Given the description of an element on the screen output the (x, y) to click on. 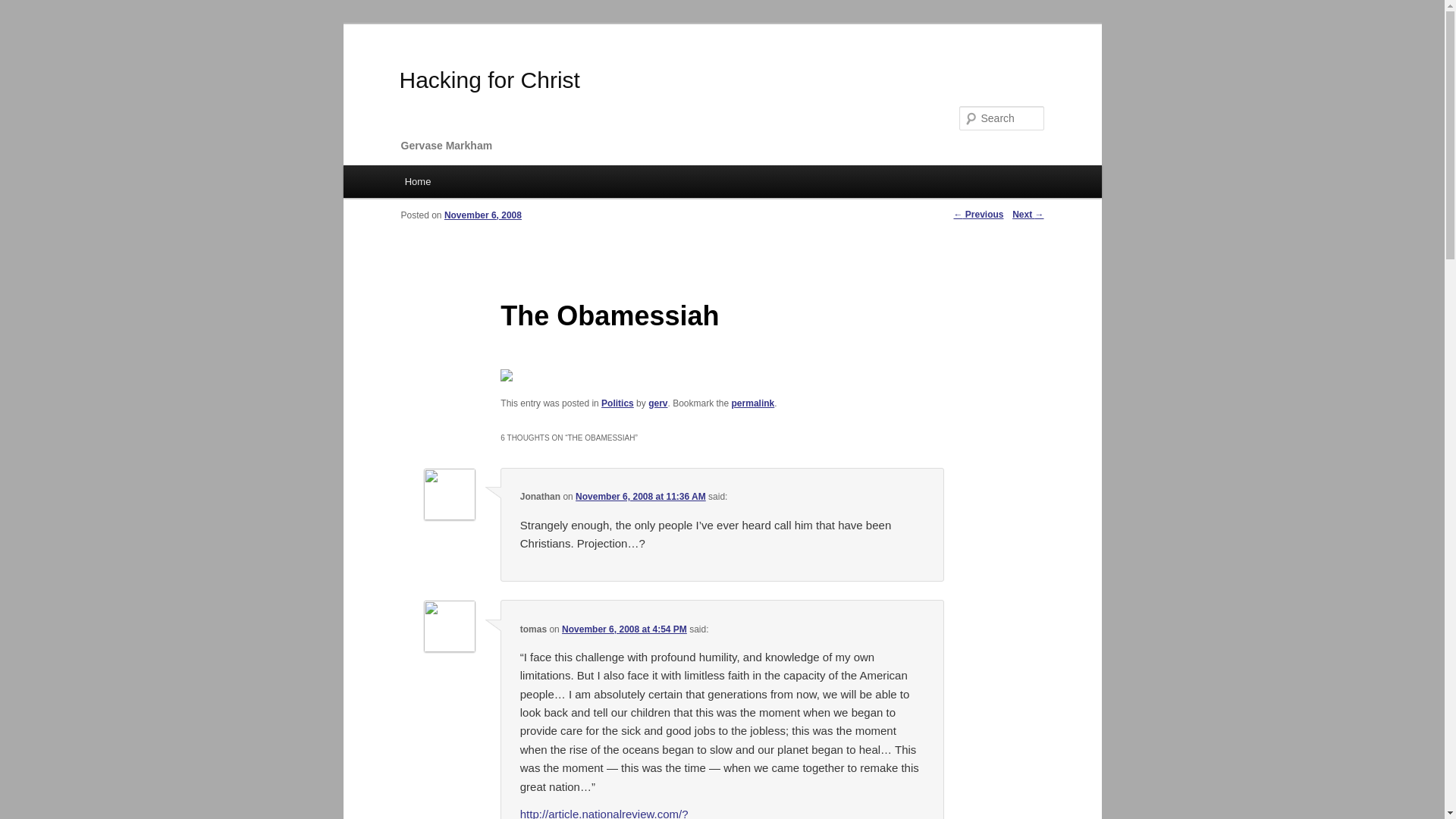
Home (417, 181)
Permalink to The Obamessiah (753, 403)
Skip to primary content (472, 184)
November 6, 2008 (482, 214)
7:43 AM (482, 214)
Skip to secondary content (479, 184)
Politics (617, 403)
November 6, 2008 at 4:54 PM (624, 629)
gerv (656, 403)
November 6, 2008 at 11:36 AM (640, 496)
